Given the description of an element on the screen output the (x, y) to click on. 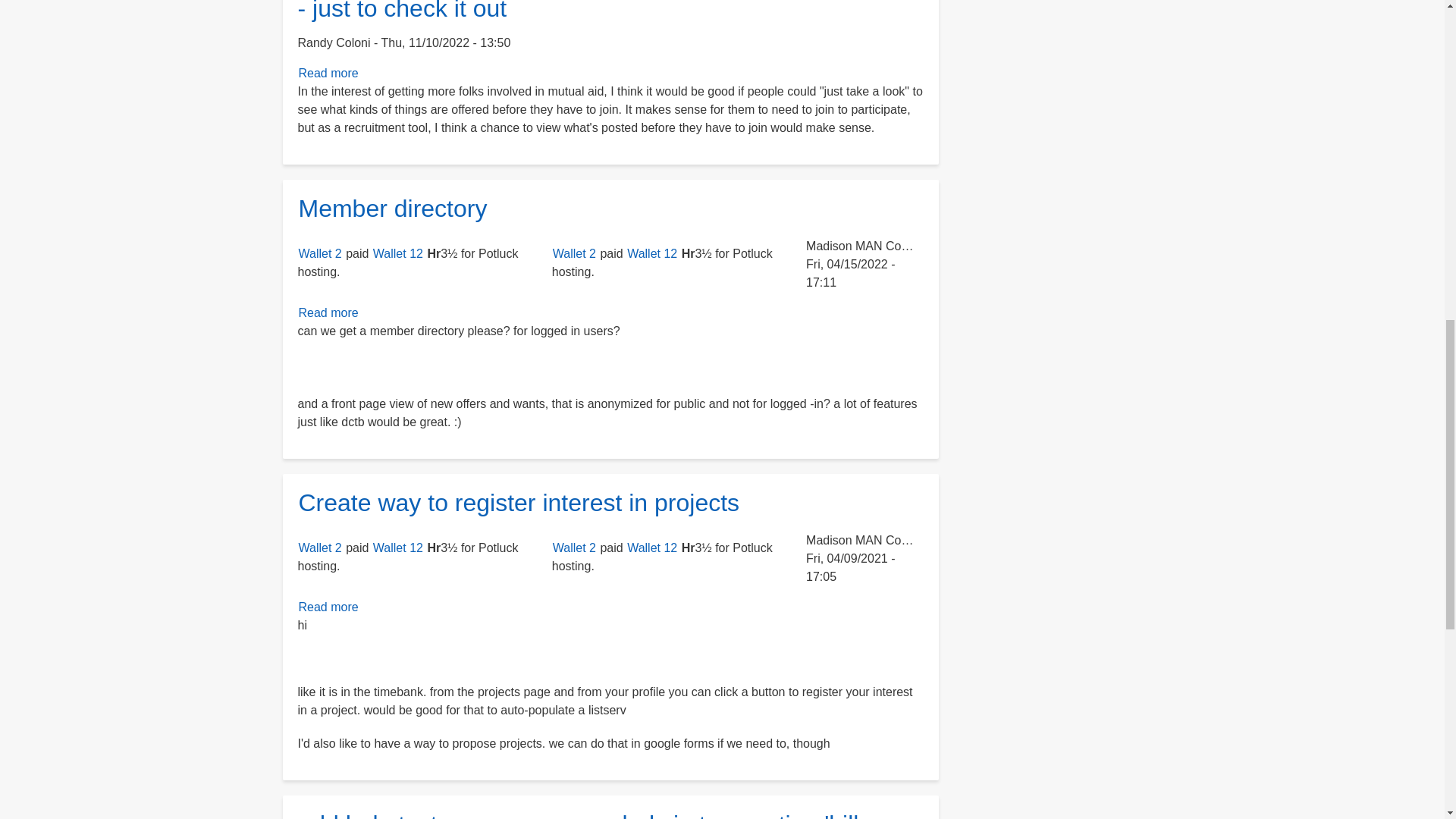
Member directory (327, 312)
Wallet 12 (392, 208)
Wallet 12 (397, 253)
Member directory (652, 253)
Wallet 12 (327, 606)
Wallet 2 (327, 312)
